Given the description of an element on the screen output the (x, y) to click on. 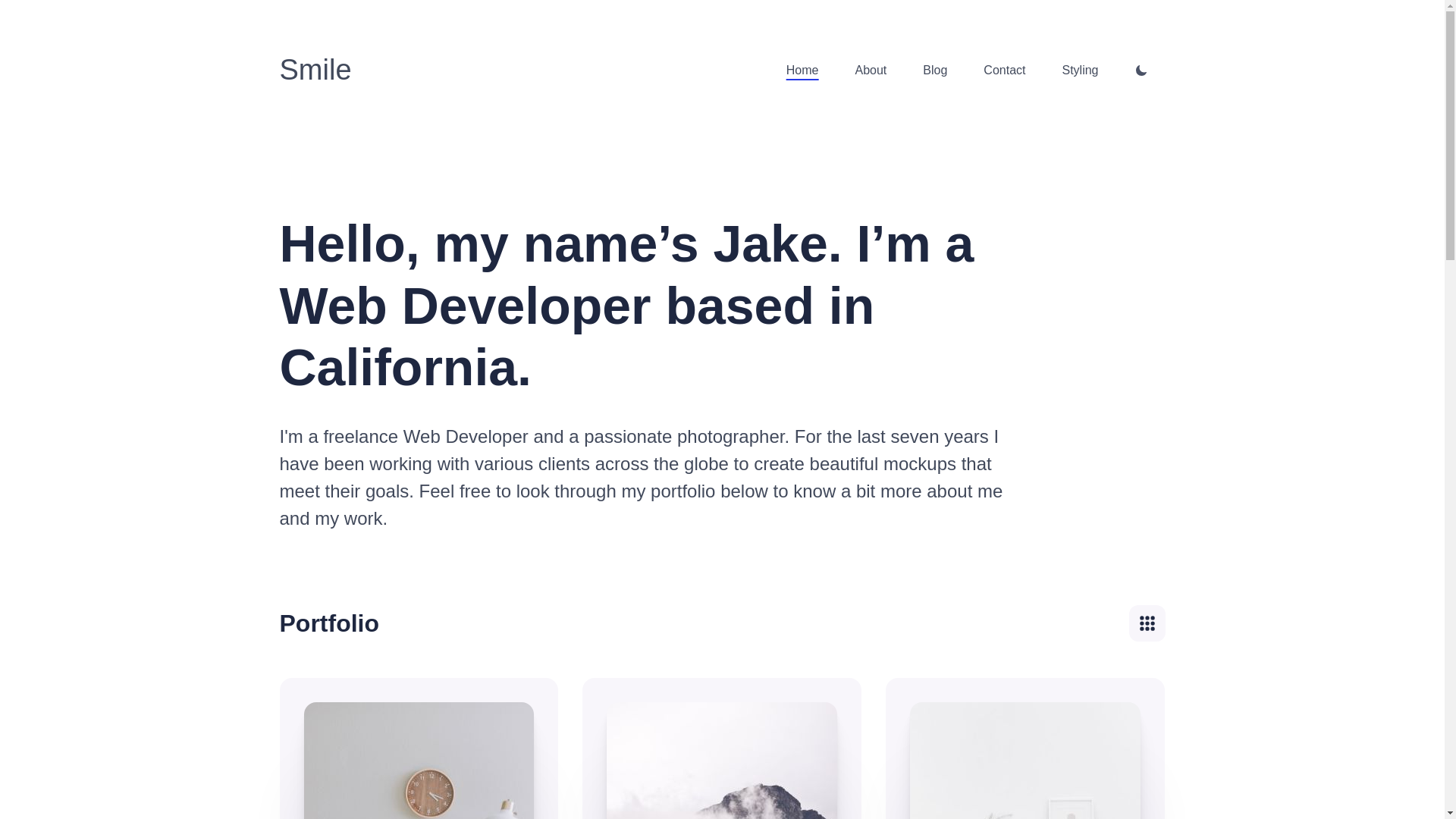
Styling (1079, 69)
Blog (935, 69)
About (870, 69)
Contact (1004, 69)
Home (802, 69)
Smile (314, 69)
